Given the description of an element on the screen output the (x, y) to click on. 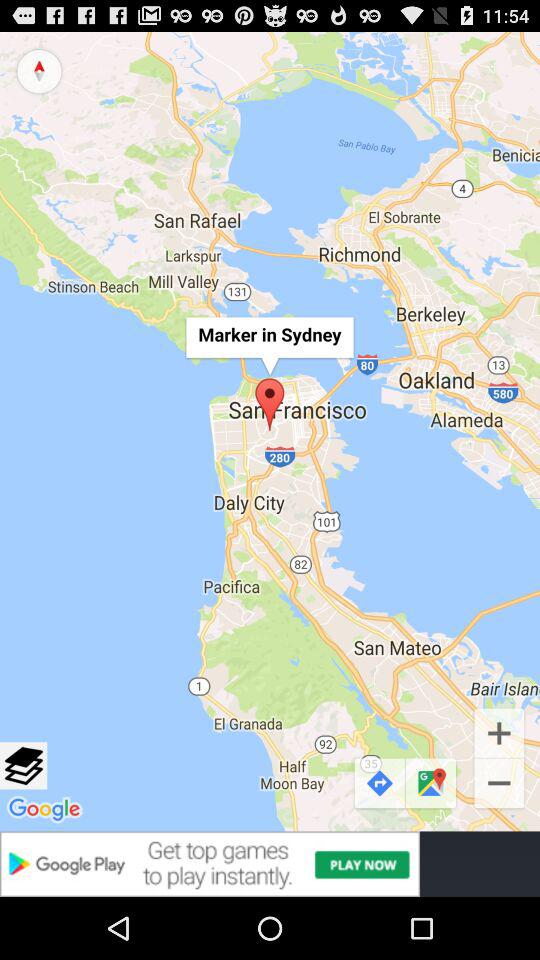
advertisement (270, 864)
